Given the description of an element on the screen output the (x, y) to click on. 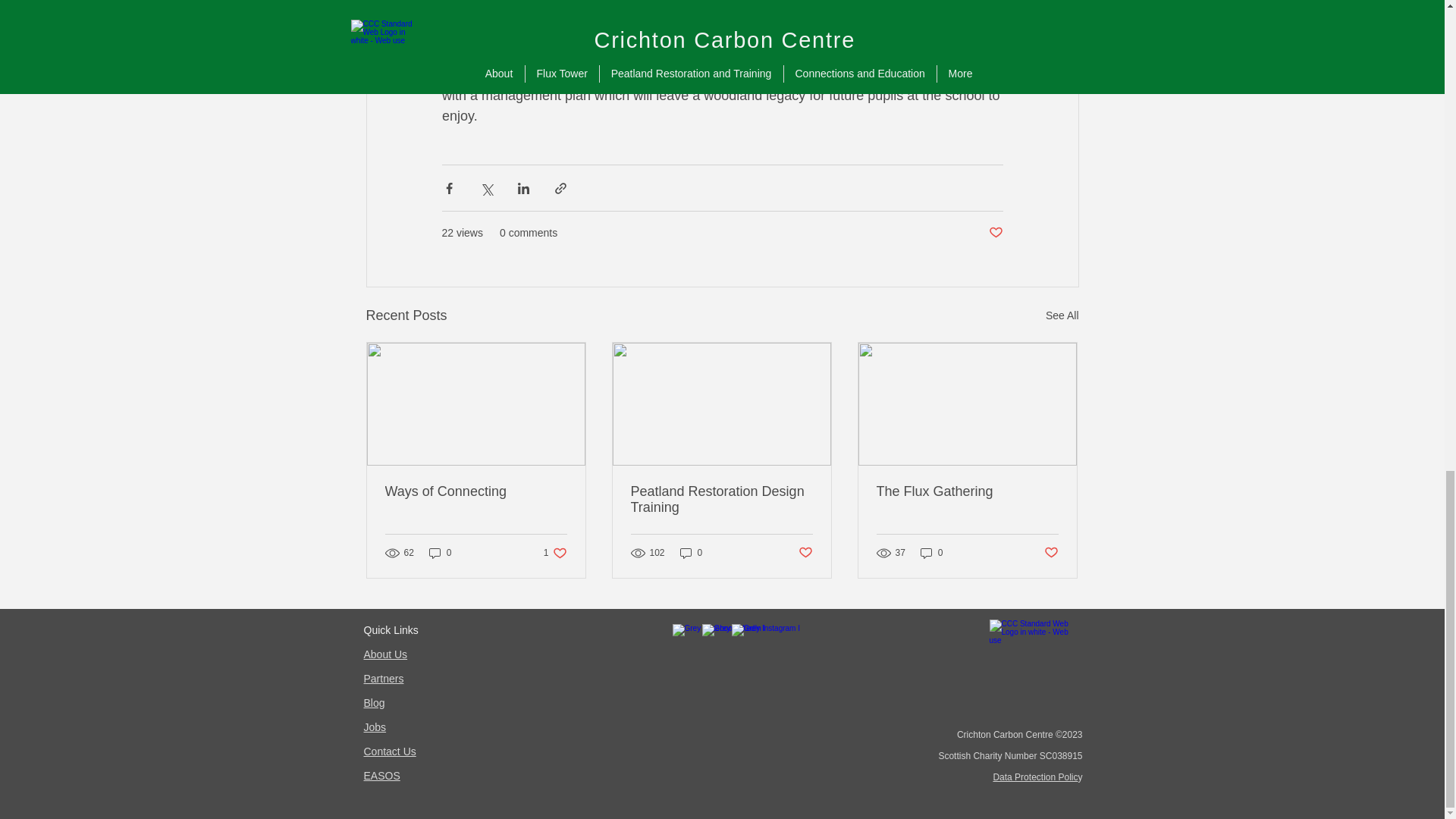
0 (691, 553)
See All (1061, 315)
The Flux Gathering  (967, 491)
0 (440, 553)
Post not marked as liked (555, 553)
Post not marked as liked (804, 552)
Ways of Connecting (995, 232)
Peatland Restoration Design Training (476, 491)
